Given the description of an element on the screen output the (x, y) to click on. 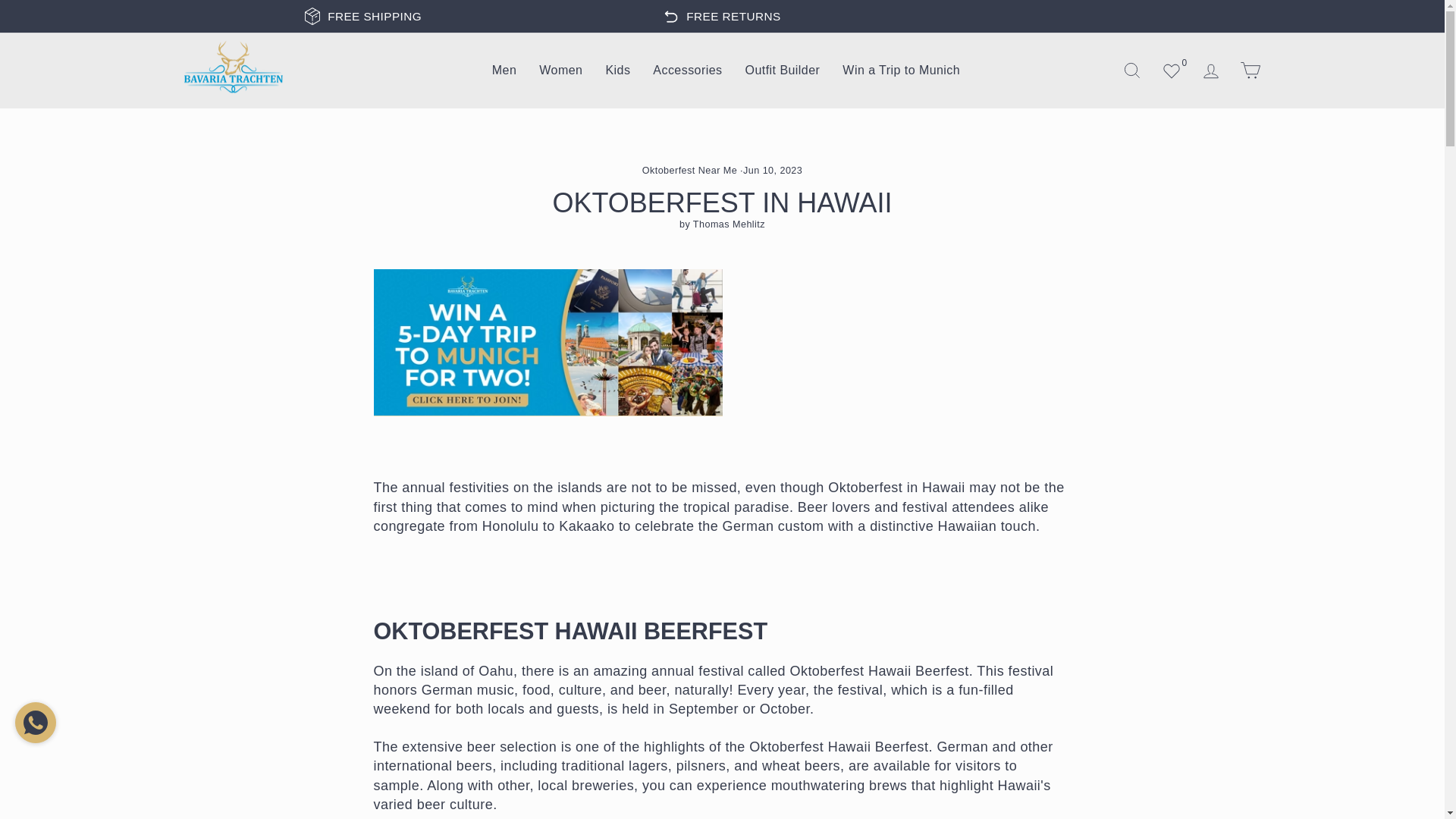
FREE SHIPPING (374, 16)
Win A 5-Day Trip To Munich, Germany, Oktoberfest (547, 342)
Men (503, 70)
FREE RETURNS (732, 16)
